Given the description of an element on the screen output the (x, y) to click on. 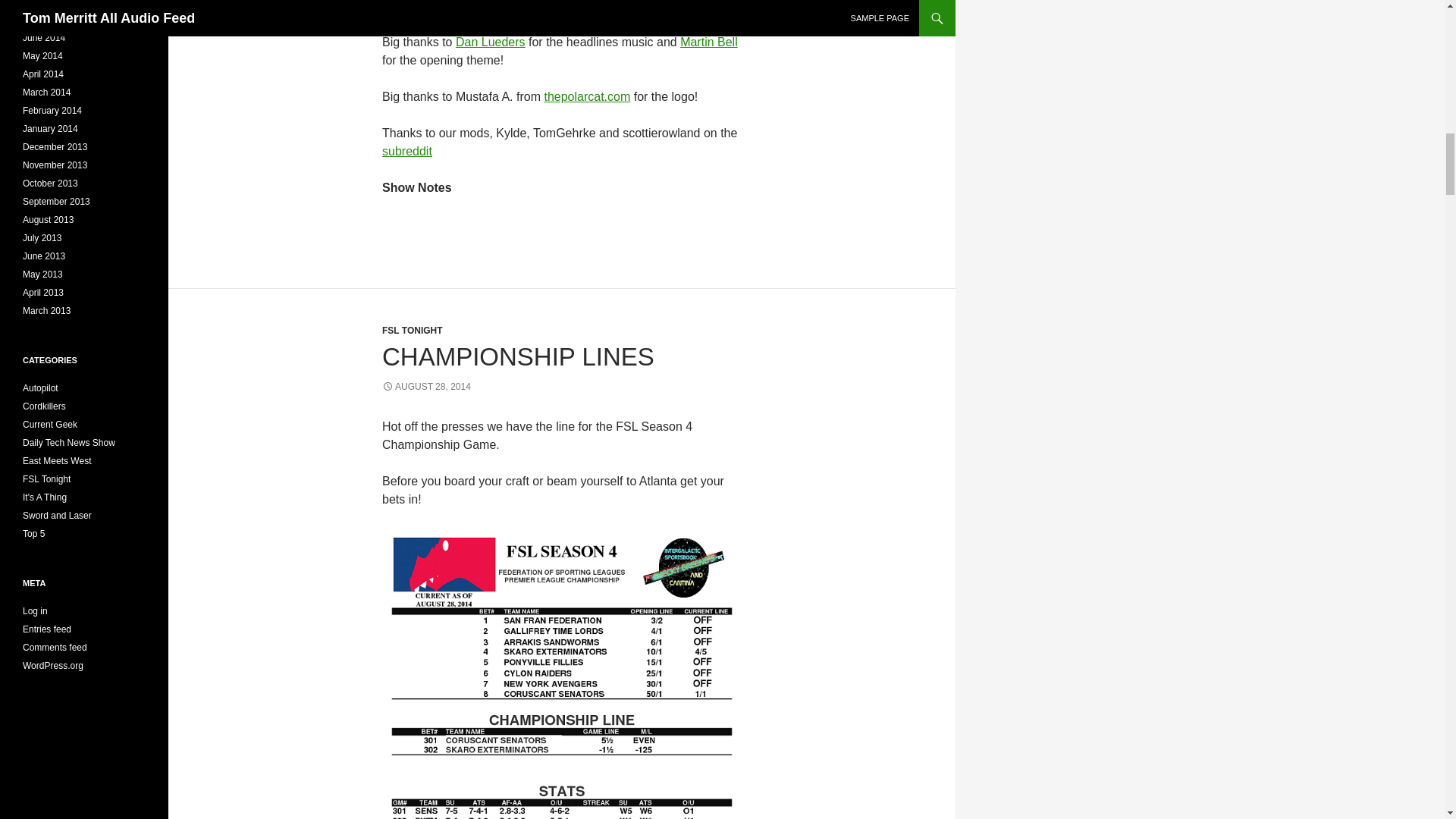
Martin Bell (708, 42)
thepolarcat.com (586, 96)
CHAMPIONSHIP LINES (517, 357)
Dan Lueders (490, 42)
FSL TONIGHT (411, 330)
subreddit (406, 151)
Patreon (536, 6)
